Given the description of an element on the screen output the (x, y) to click on. 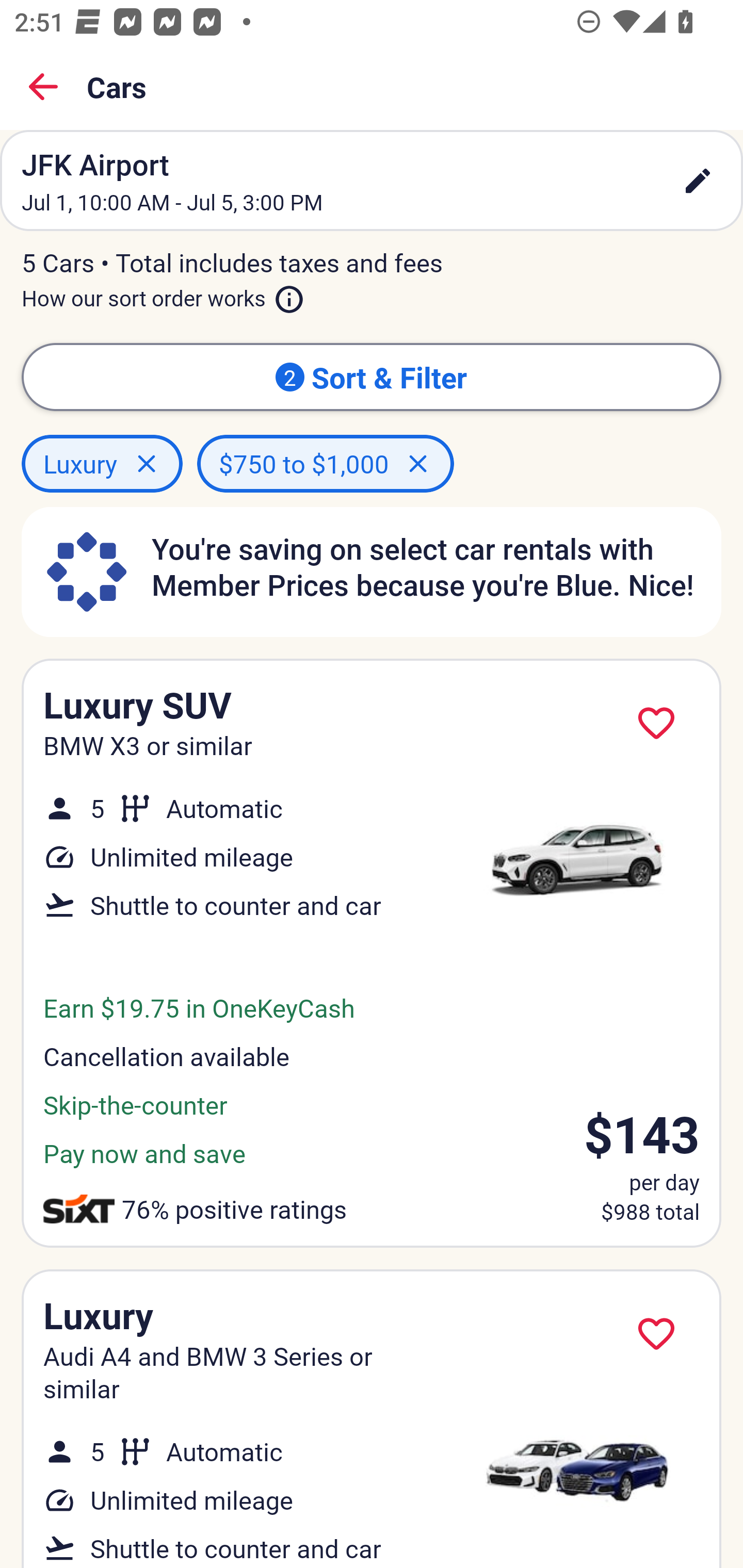
Back (43, 86)
edit (697, 180)
How our sort order works (163, 294)
2 Sort & Filter (371, 376)
